Given the description of an element on the screen output the (x, y) to click on. 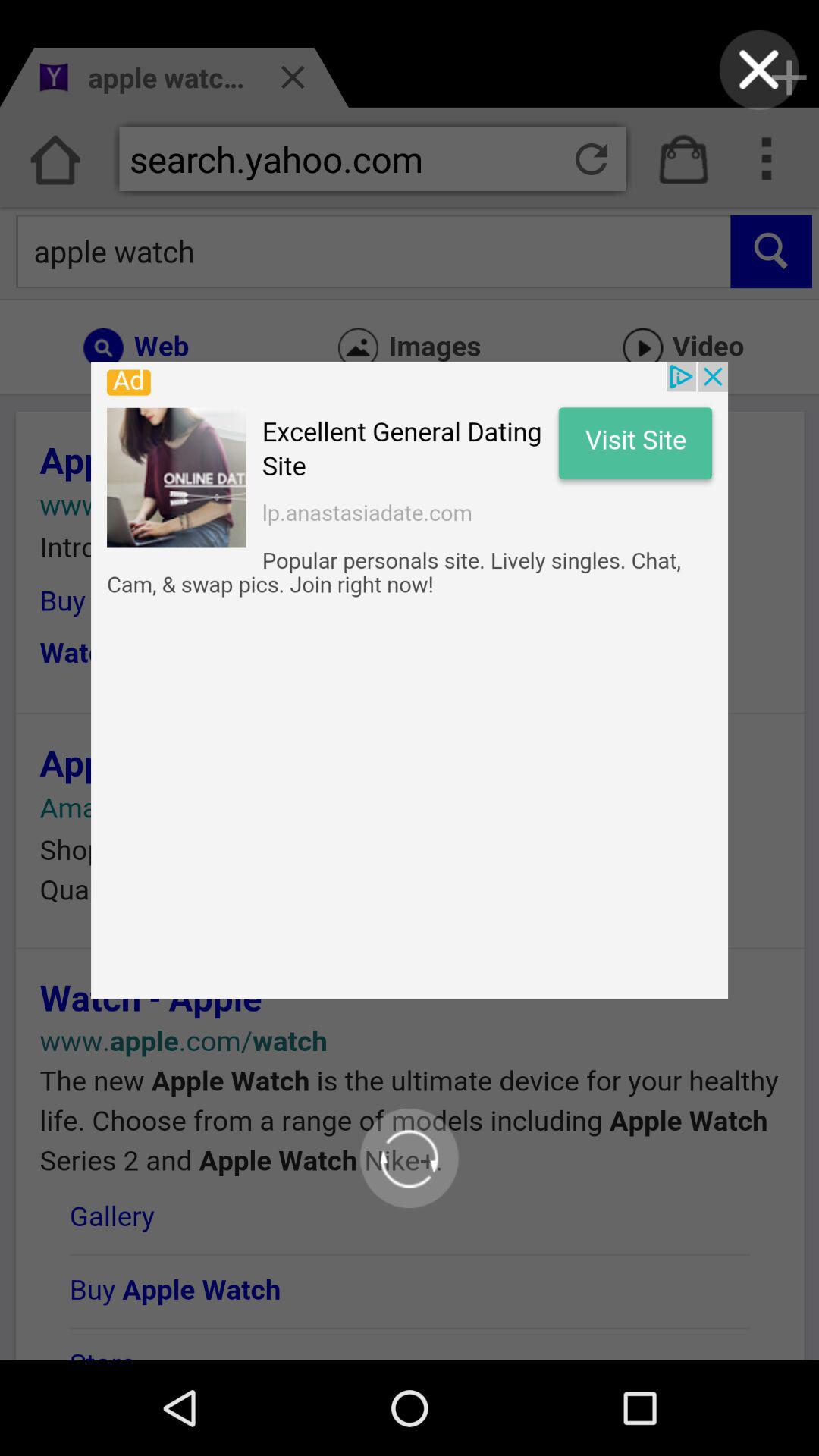
4g internet browser fast (759, 69)
